Given the description of an element on the screen output the (x, y) to click on. 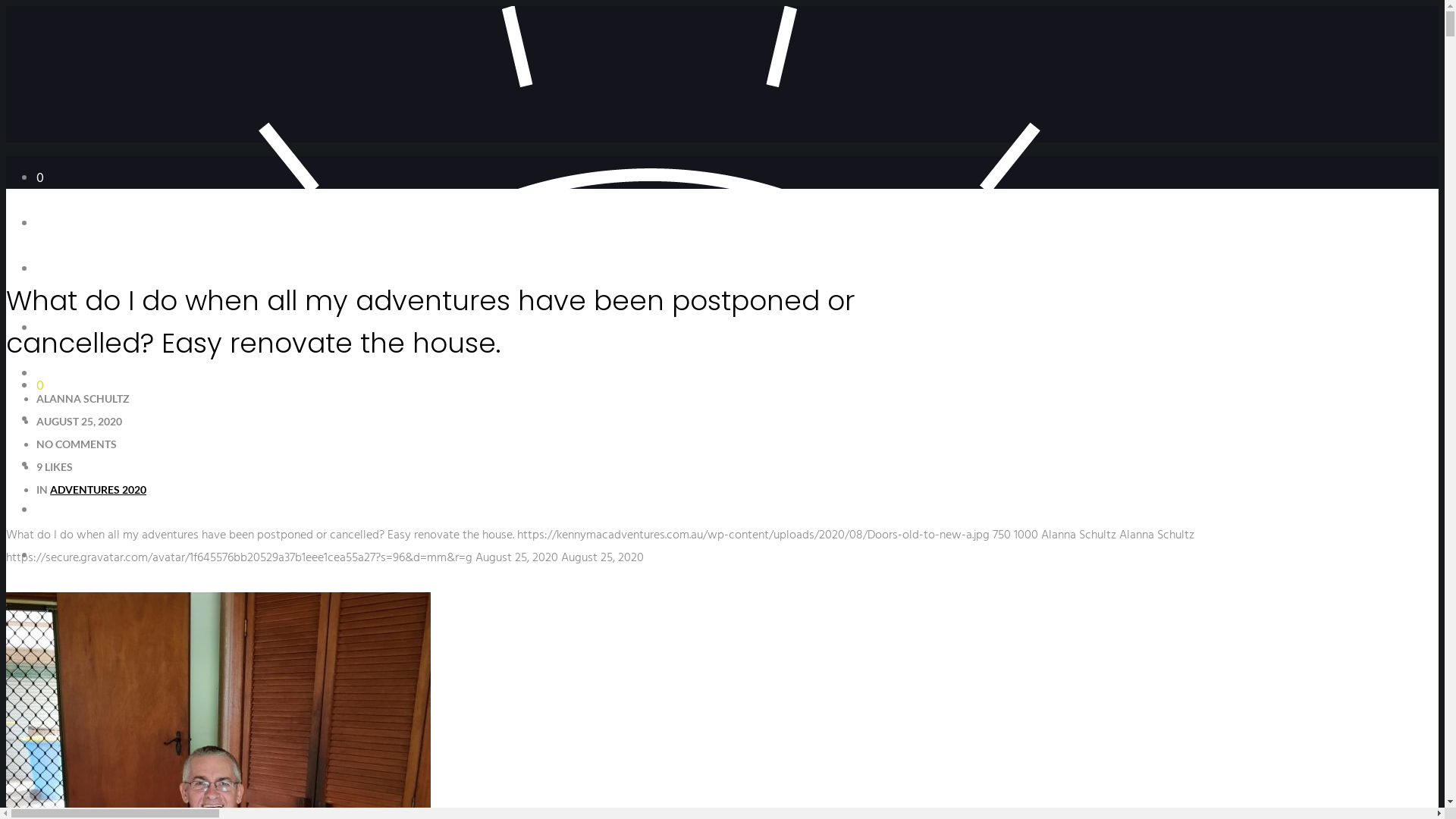
ABOUT Element type: text (54, 374)
ADVENTURES 2020 Element type: text (98, 489)
ADVENTURES Element type: text (69, 602)
CREATIONS Element type: text (66, 647)
HOME Element type: text (51, 329)
BOOK Element type: text (51, 420)
GALLERY Element type: text (58, 556)
SHOP Element type: text (50, 511)
B4B Element type: text (46, 465)
BLOG Element type: text (50, 693)
CONTACT Element type: text (63, 738)
